Given the description of an element on the screen output the (x, y) to click on. 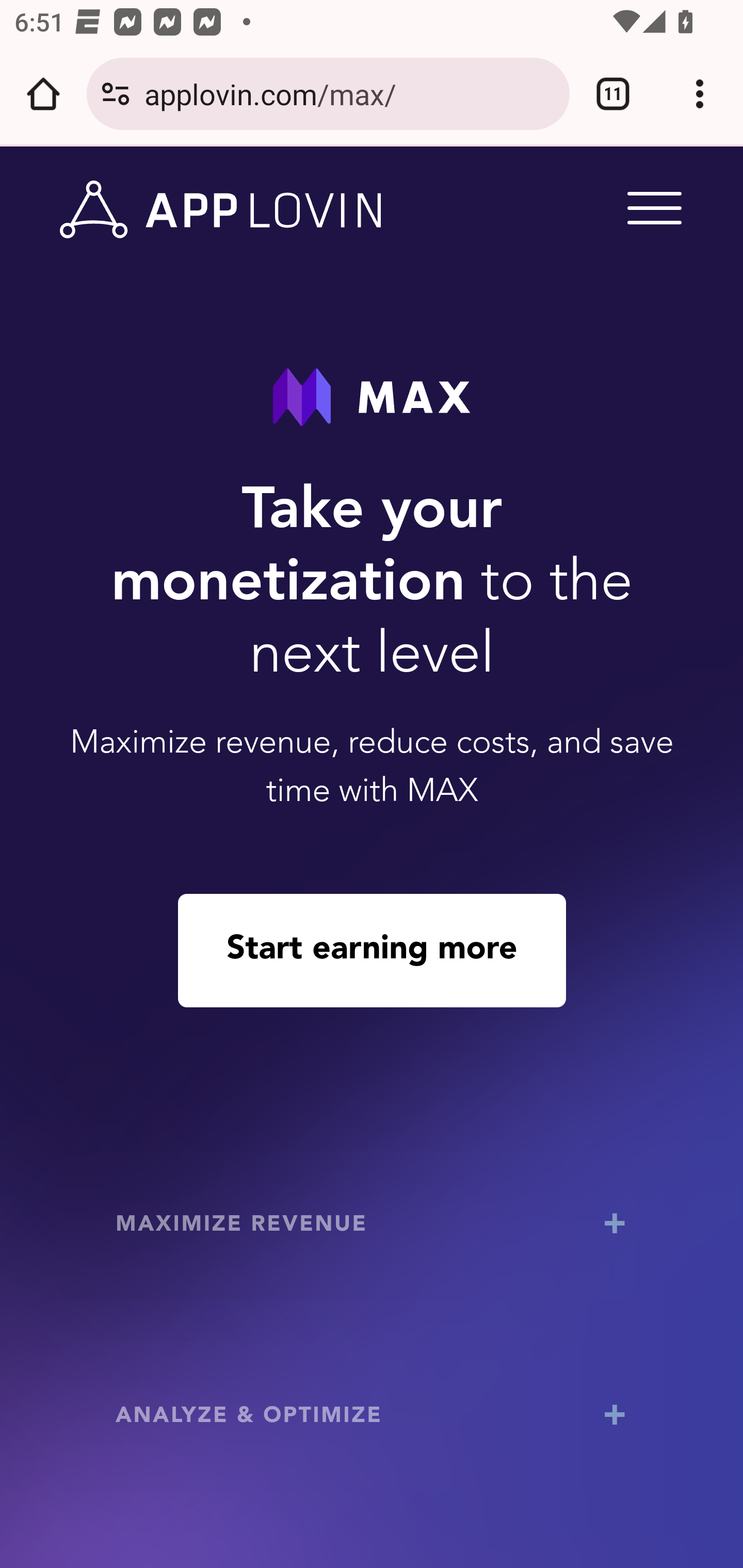
Open the home page (43, 93)
Connection is secure (115, 93)
Switch or close tabs (612, 93)
Customize and control Google Chrome (699, 93)
applovin.com/max/ (349, 92)
Menu Trigger (650, 207)
www.applovin (220, 209)
Start earning more (371, 950)
